Given the description of an element on the screen output the (x, y) to click on. 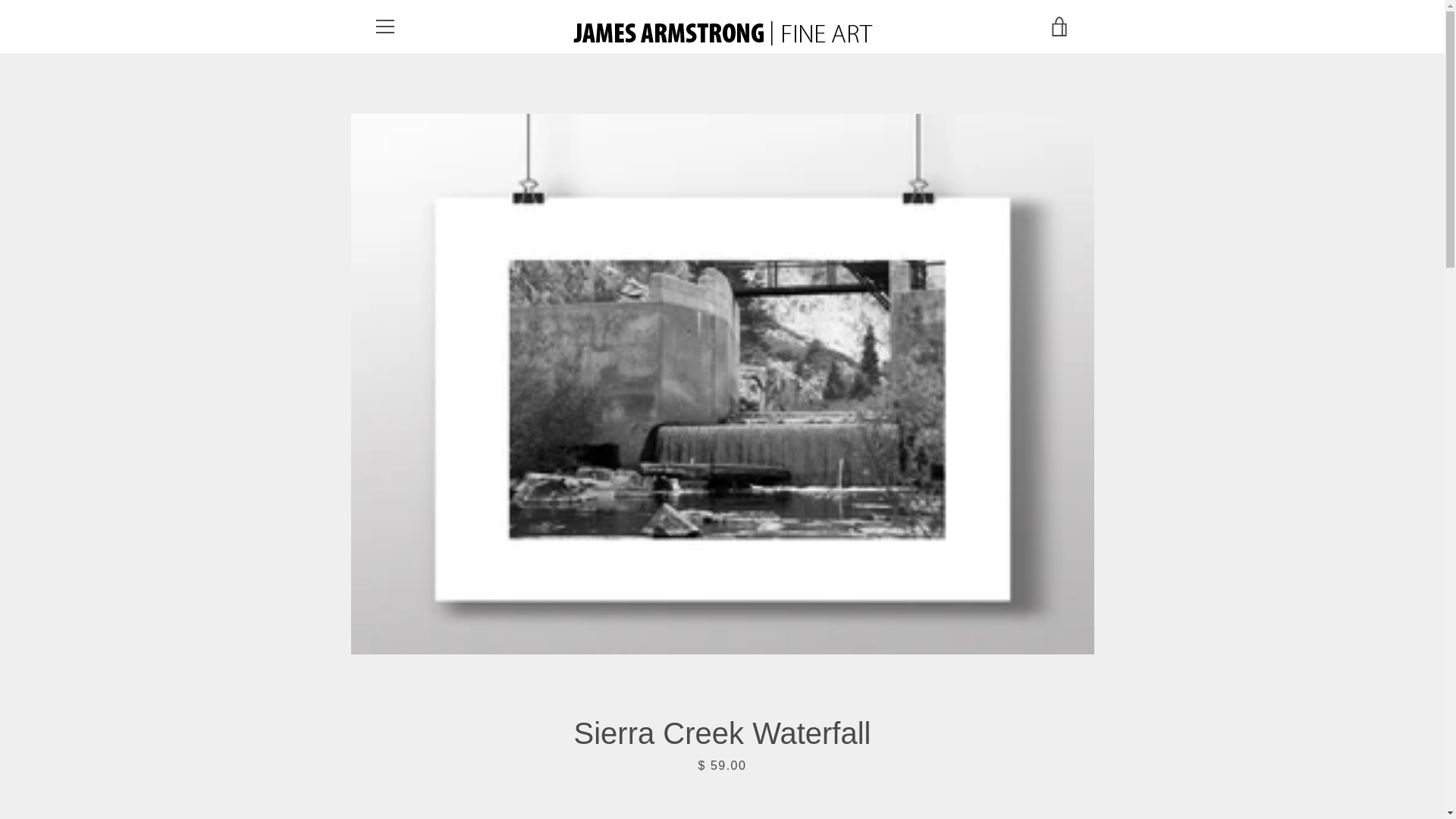
EXPAND NAVIGATION (384, 26)
VIEW CART (1059, 26)
